Given the description of an element on the screen output the (x, y) to click on. 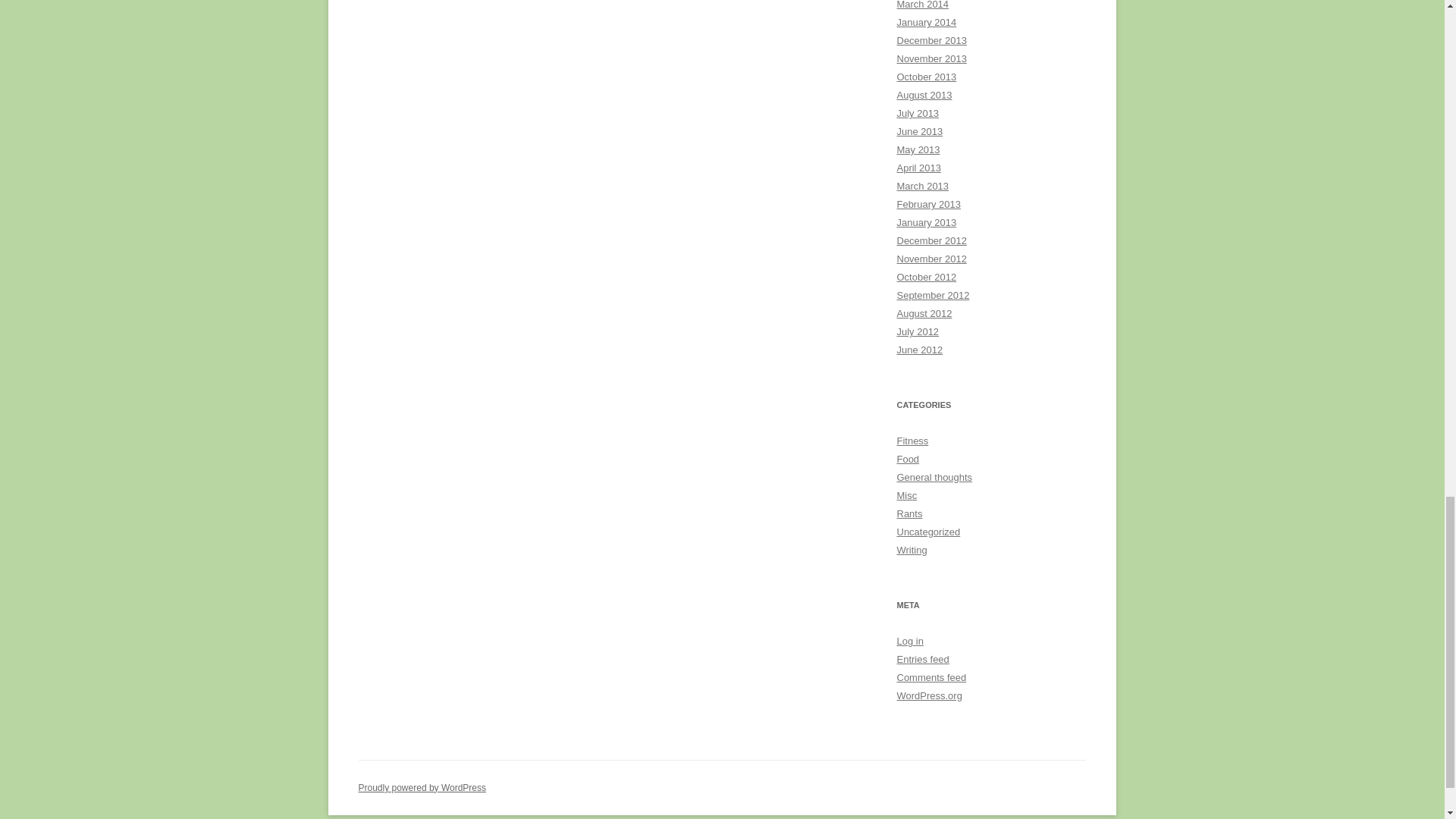
Semantic Personal Publishing Platform (422, 787)
